Given the description of an element on the screen output the (x, y) to click on. 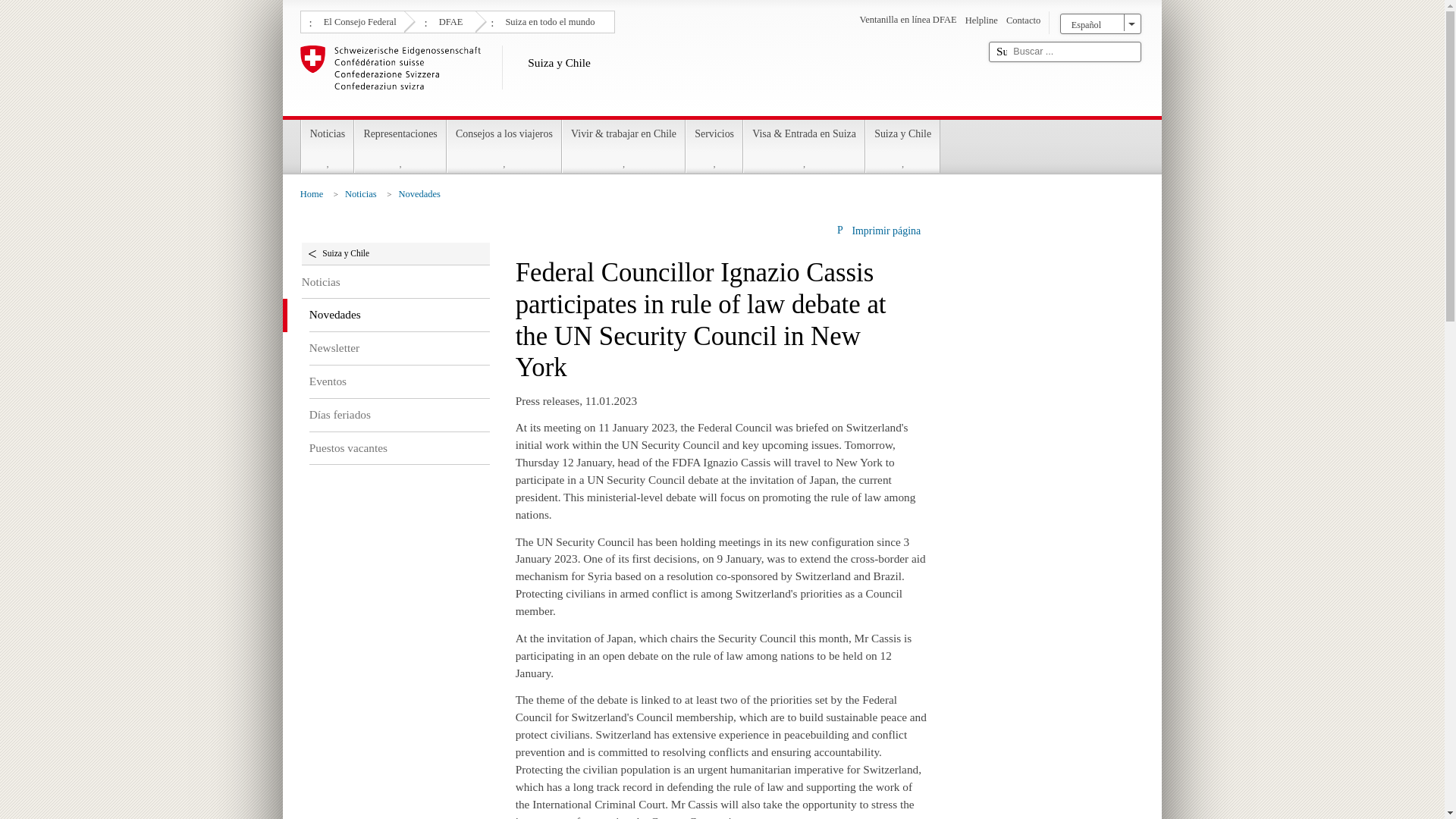
El Consejo Federal (357, 20)
DFAE (448, 20)
Suiza en todo el mundo (546, 20)
Suiza y Chile (637, 76)
Submit (1001, 51)
